Given the description of an element on the screen output the (x, y) to click on. 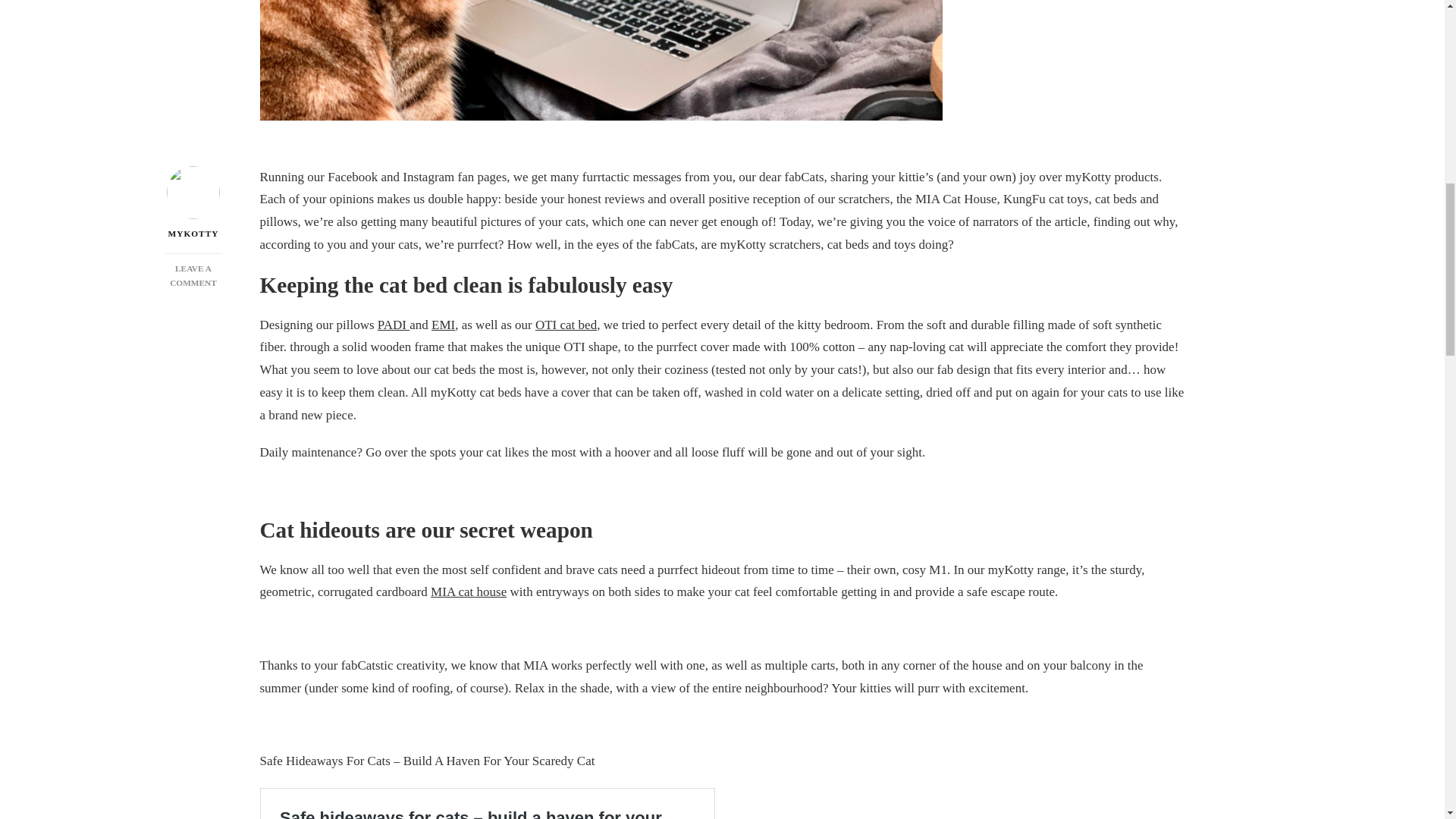
EMI (442, 324)
MIA cat house (468, 591)
PADI (393, 324)
OTI cat bed (565, 324)
